Given the description of an element on the screen output the (x, y) to click on. 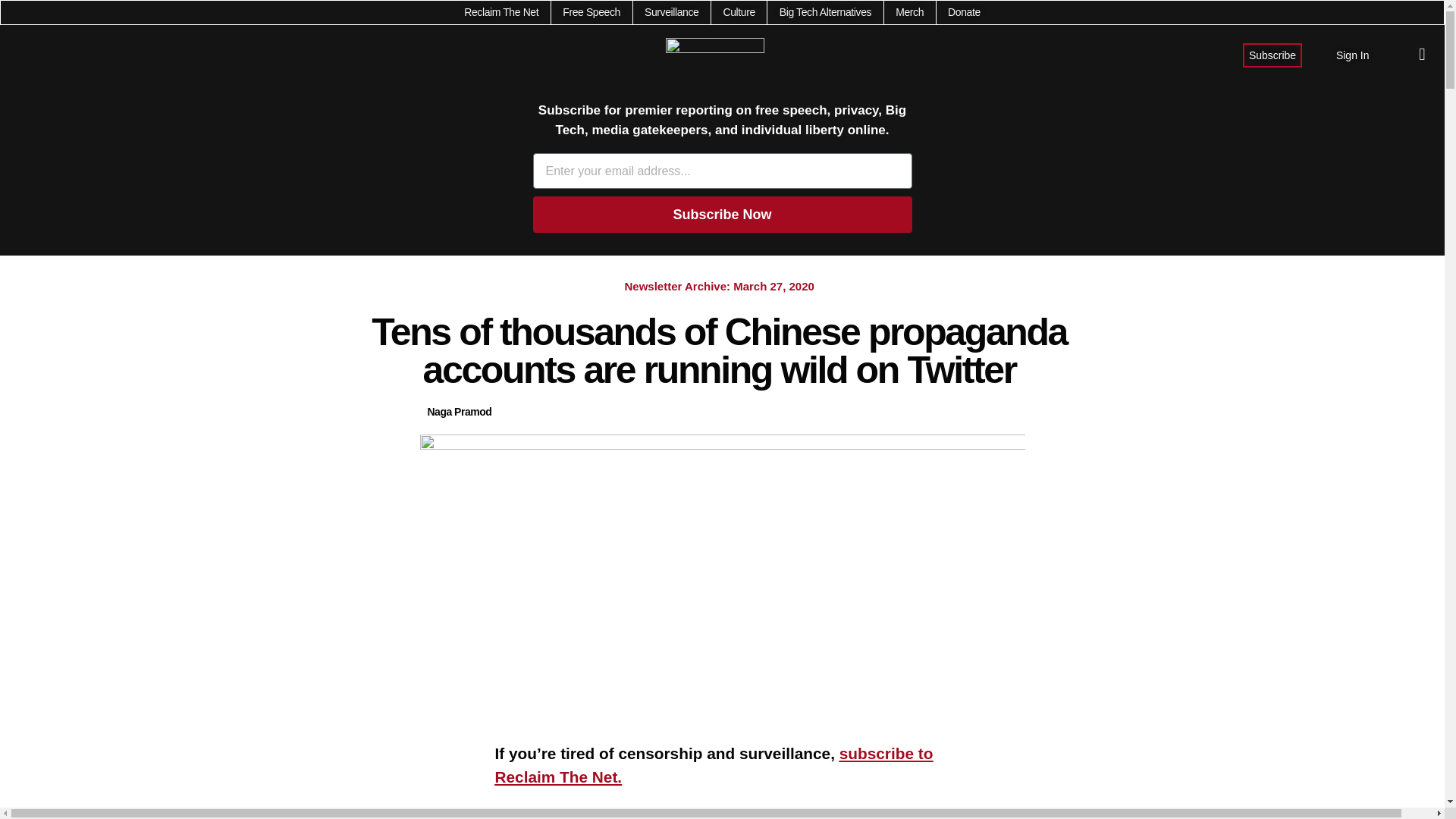
Donate (963, 12)
Subscribe Now (721, 214)
Big Tech Alternatives (824, 12)
Naga Pramod (460, 412)
Surveillance (671, 12)
Subscribe (1272, 55)
Reclaim The Net (501, 12)
Free Speech (591, 12)
subscribe to Reclaim The Net. (714, 764)
Sign In (1353, 55)
Culture (738, 12)
Merch (909, 12)
